Given the description of an element on the screen output the (x, y) to click on. 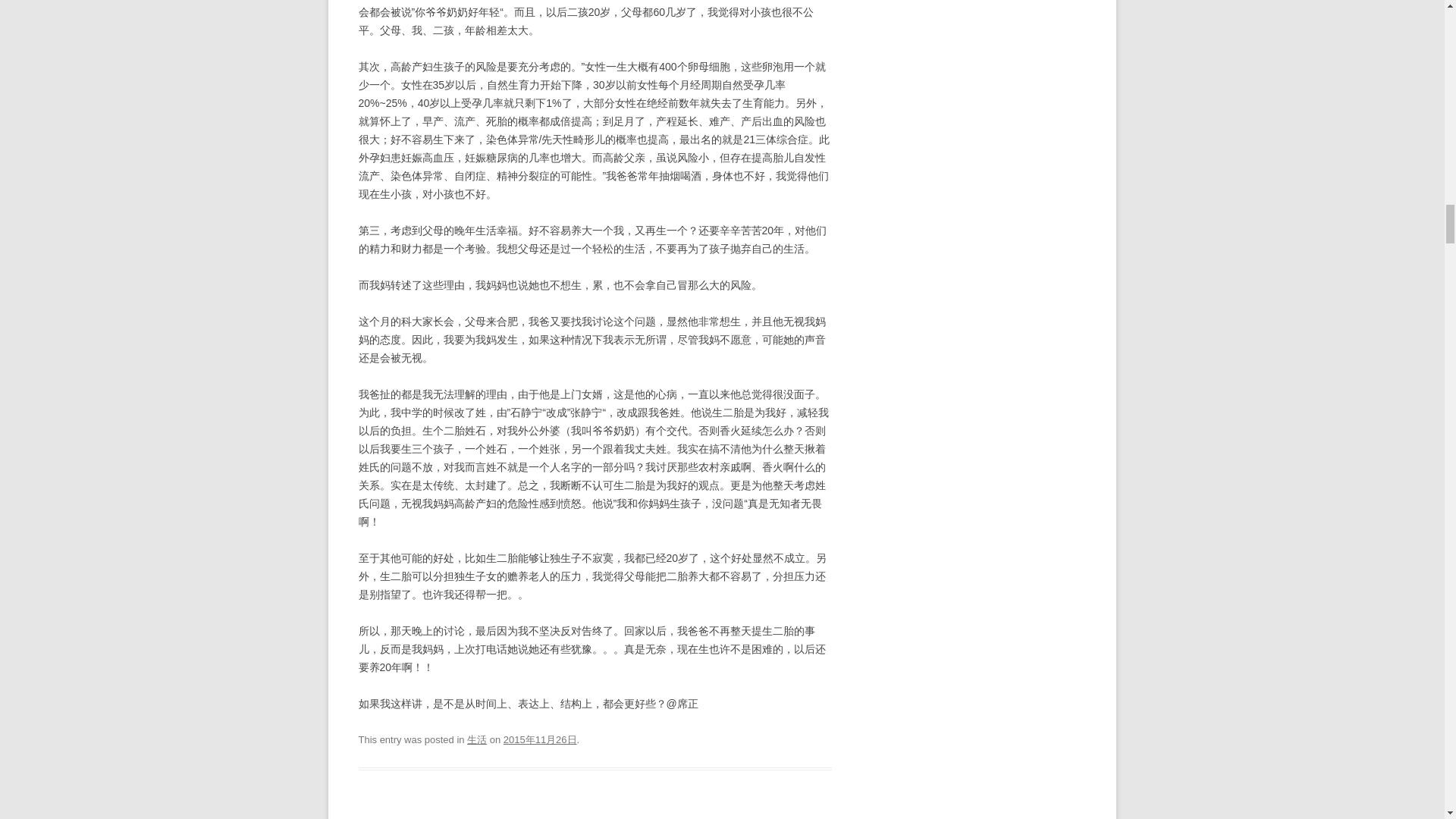
pm5:55 (539, 739)
